Given the description of an element on the screen output the (x, y) to click on. 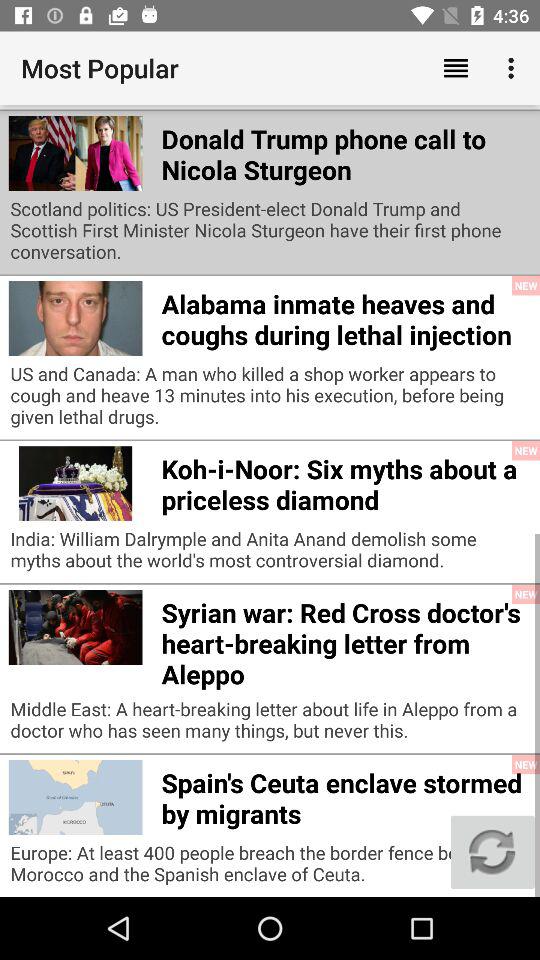
click koh i noor icon (345, 481)
